Given the description of an element on the screen output the (x, y) to click on. 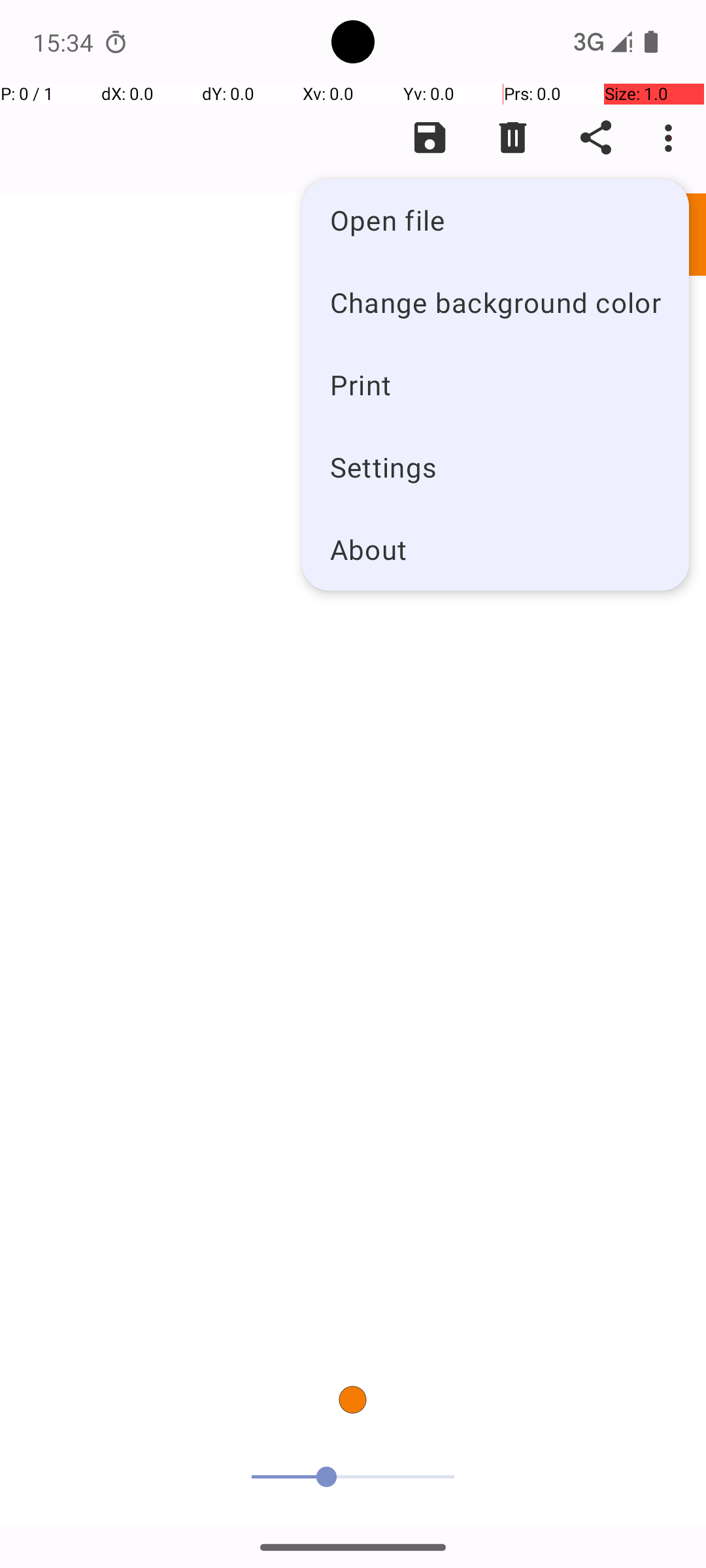
Open file Element type: android.widget.TextView (495, 219)
Change background color Element type: android.widget.TextView (495, 301)
